Given the description of an element on the screen output the (x, y) to click on. 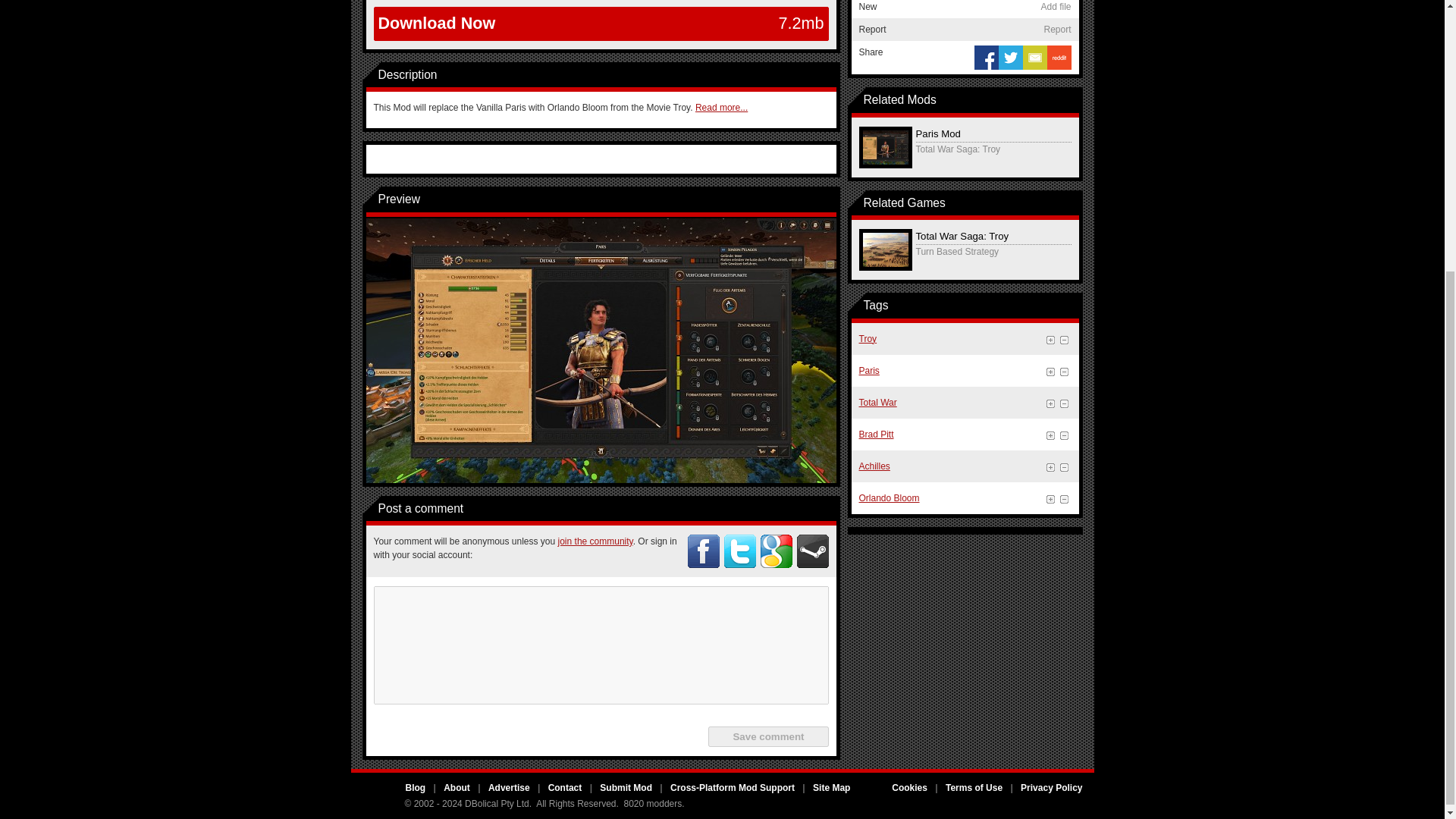
Paris Mod (600, 348)
Save comment (767, 736)
Your download... (600, 23)
